Given the description of an element on the screen output the (x, y) to click on. 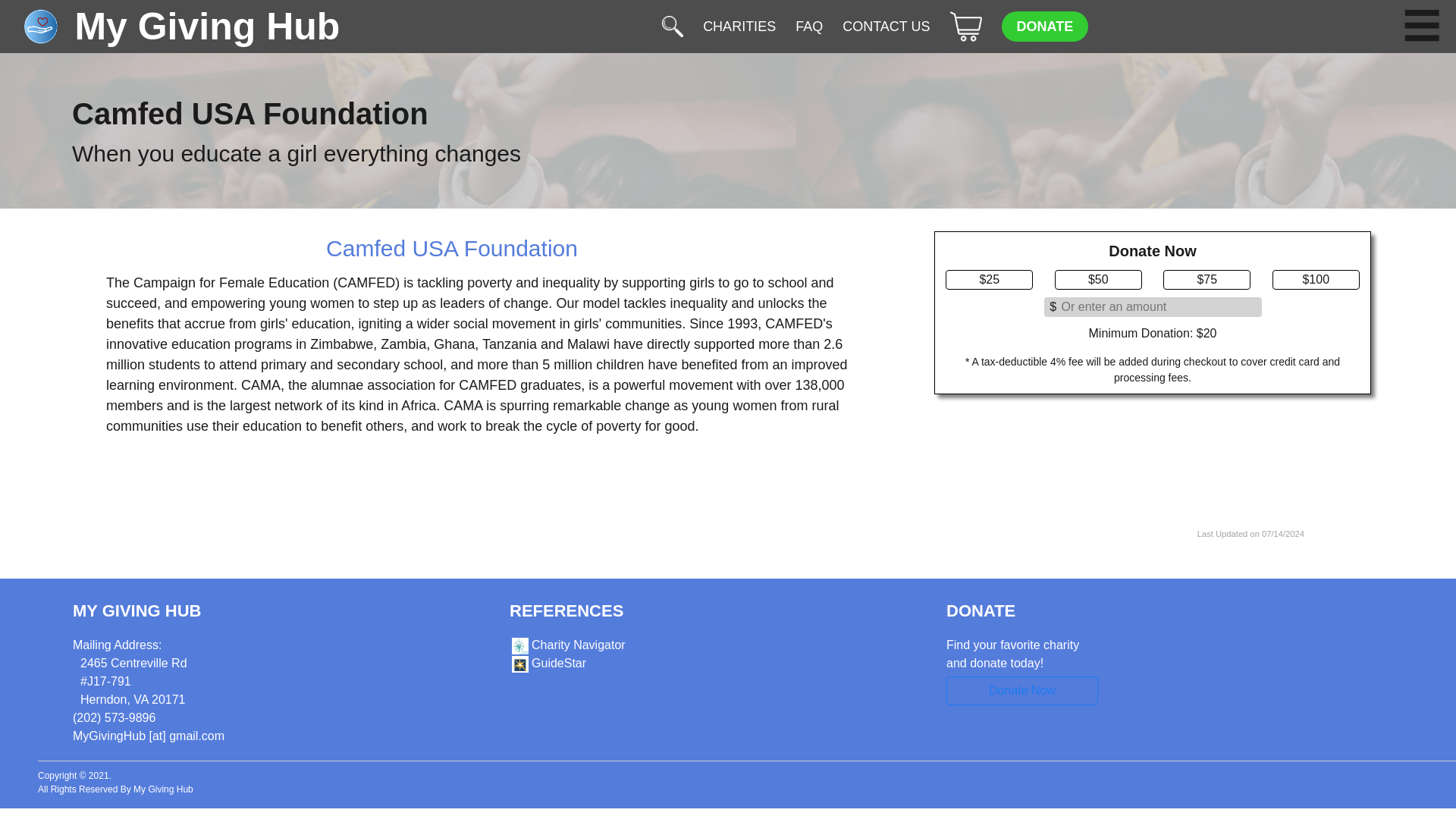
Donate Now (1021, 690)
GuideStar (547, 662)
My Giving Hub (173, 26)
Charity Navigator (567, 644)
CHARITIES (739, 26)
DONATE (1044, 26)
Donate Now (1021, 687)
My Giving Hub (163, 788)
CONTACT US (886, 26)
